Given the description of an element on the screen output the (x, y) to click on. 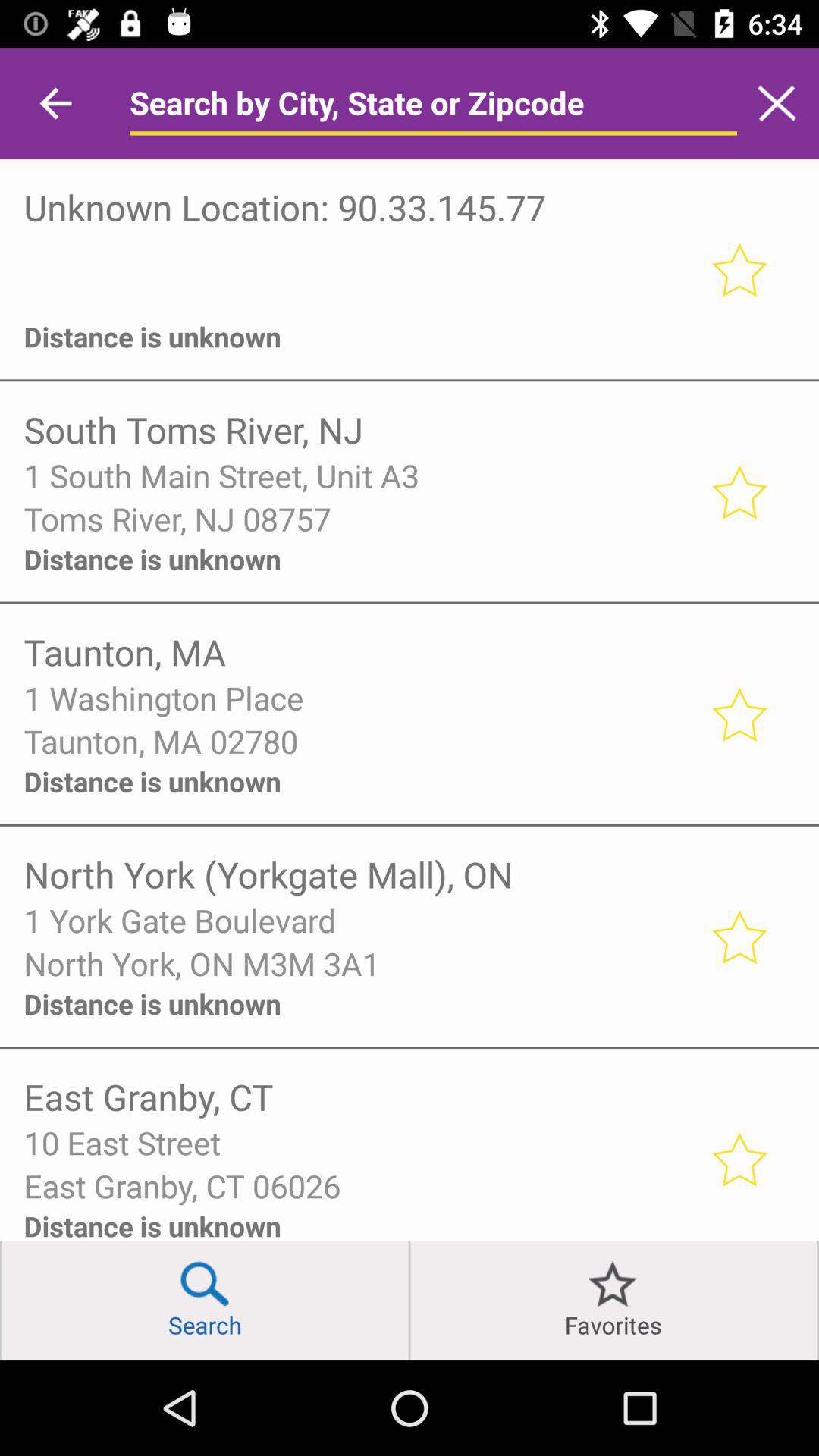
swipe until the 10 east street icon (356, 1142)
